Given the description of an element on the screen output the (x, y) to click on. 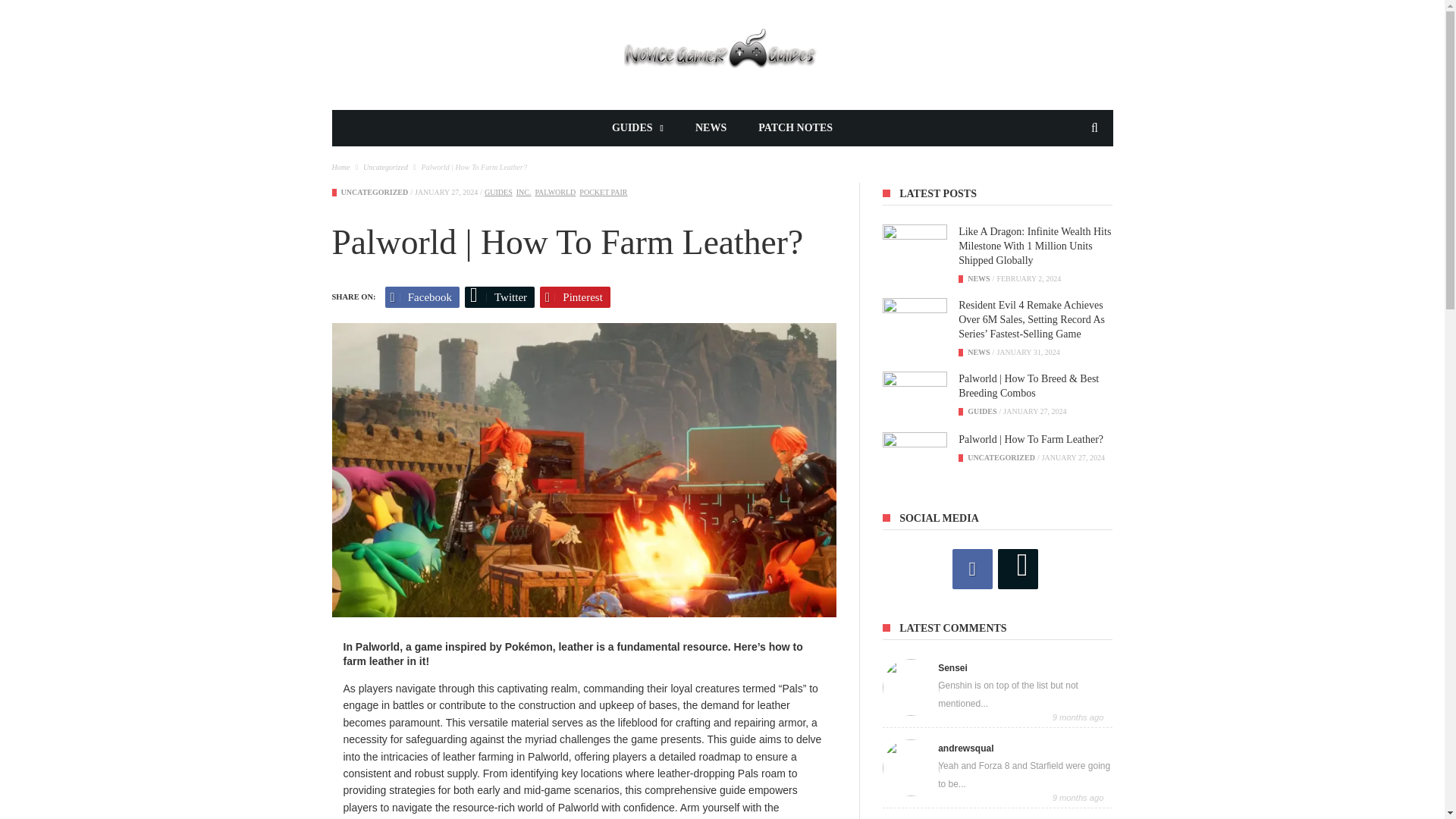
POCKET PAIR (603, 192)
PALWORLD (554, 192)
Uncategorized (374, 192)
Pinterest (575, 296)
NEWS (710, 127)
UNCATEGORIZED (374, 192)
GUIDES (637, 127)
guides (498, 192)
Inc. (523, 192)
INC. (523, 192)
